Given the description of an element on the screen output the (x, y) to click on. 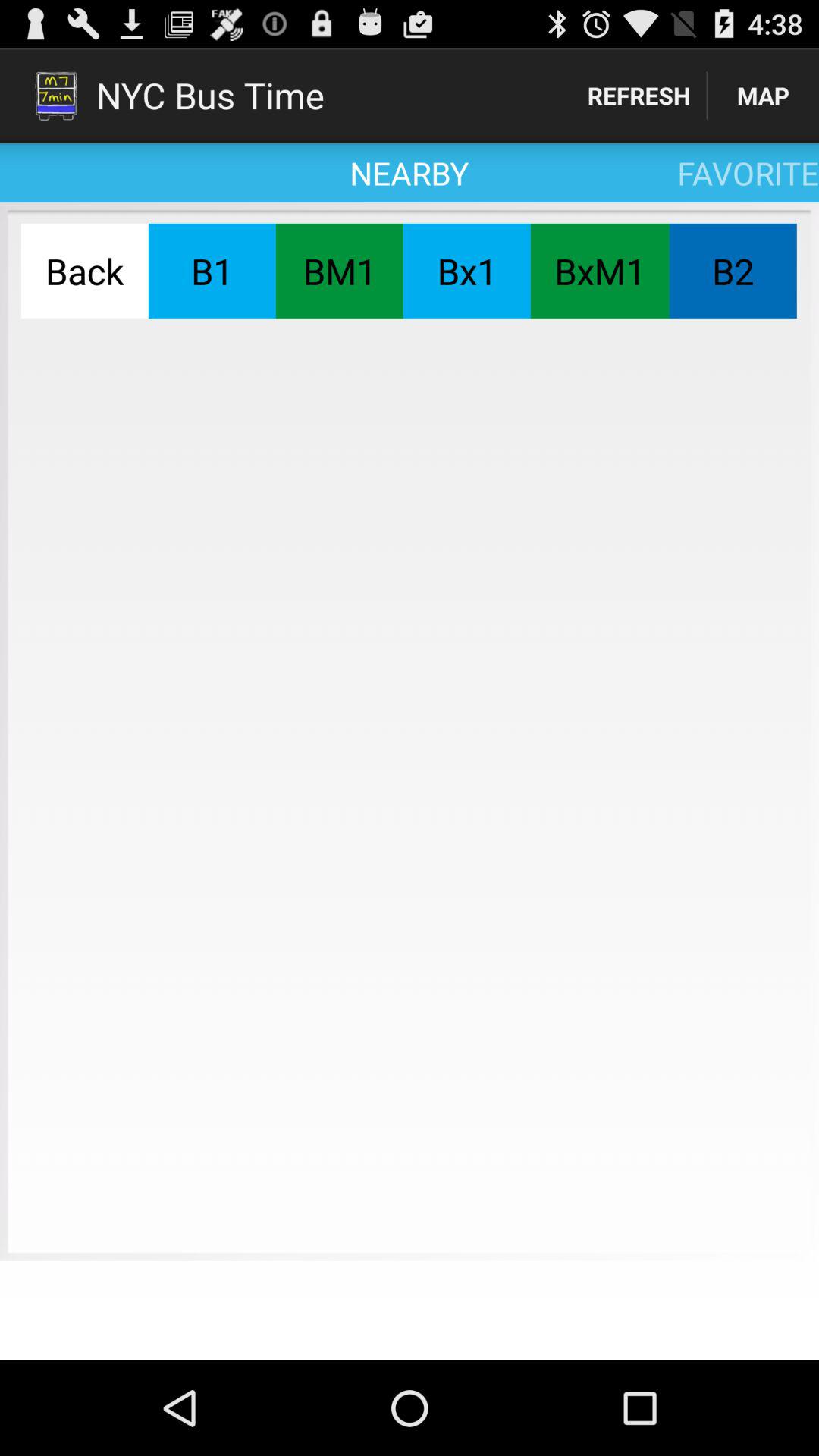
turn on the icon next to the b2 item (599, 271)
